Given the description of an element on the screen output the (x, y) to click on. 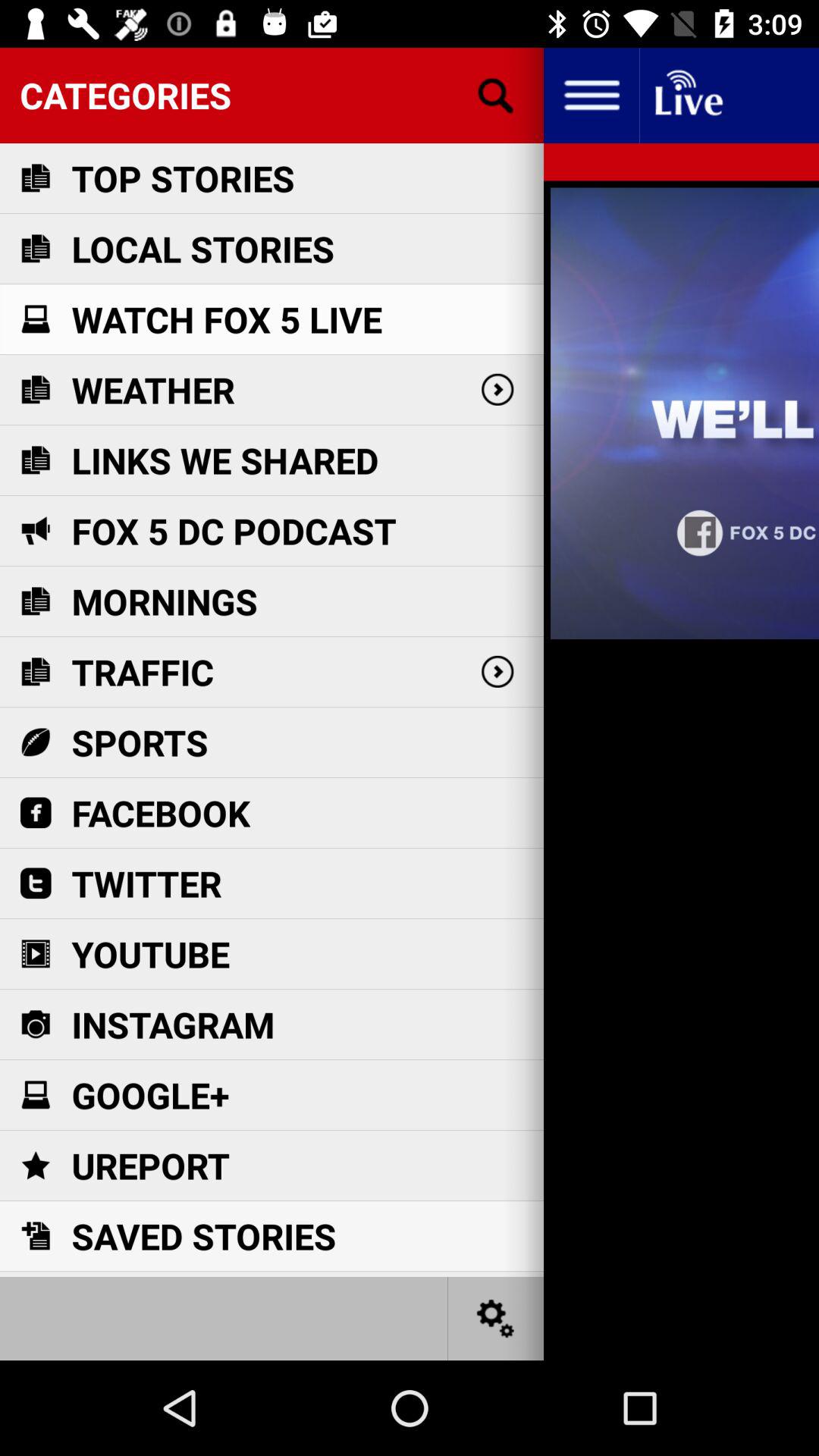
swipe until the local stories icon (202, 248)
